Given the description of an element on the screen output the (x, y) to click on. 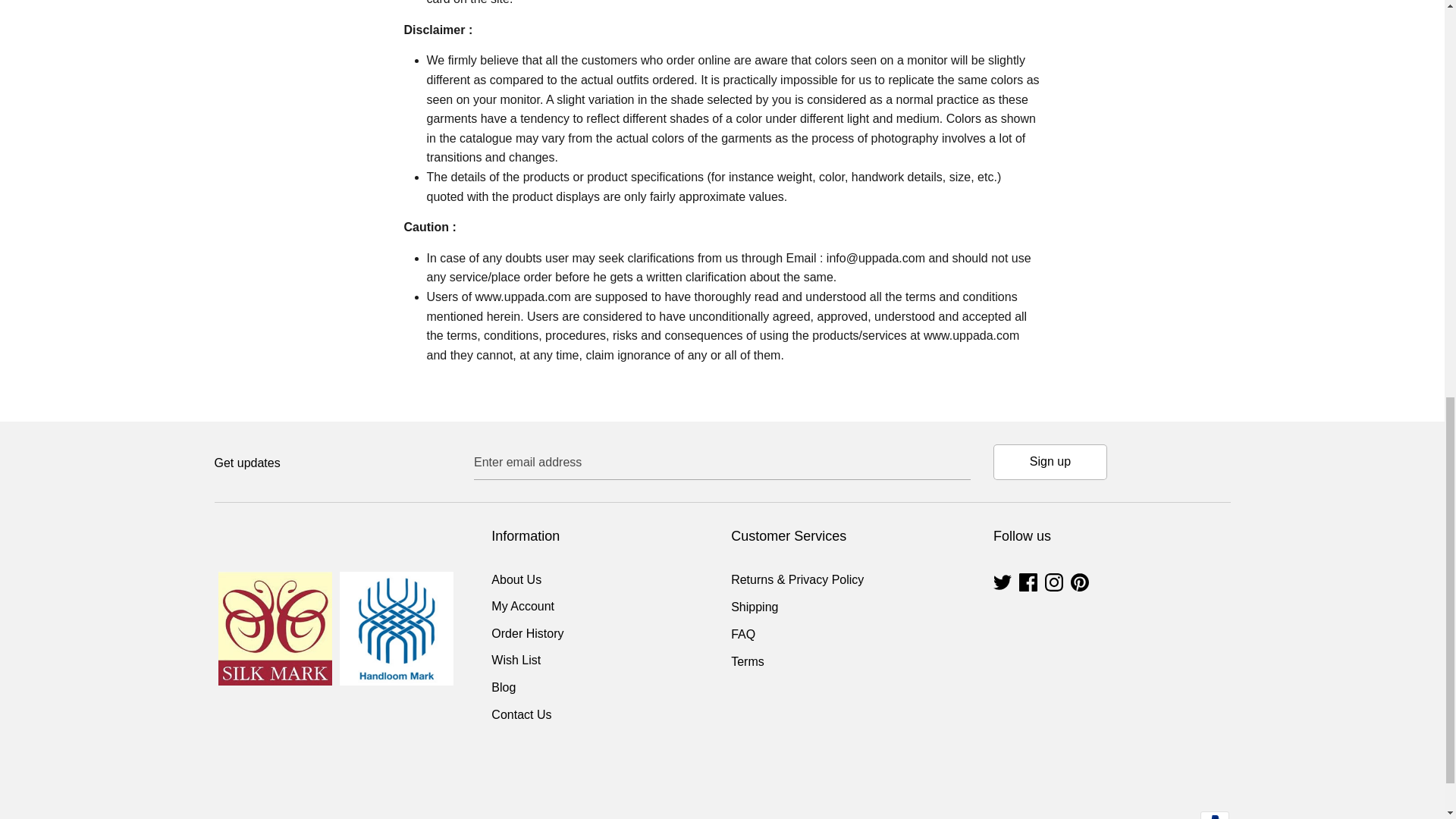
PayPal (1213, 815)
